Given the description of an element on the screen output the (x, y) to click on. 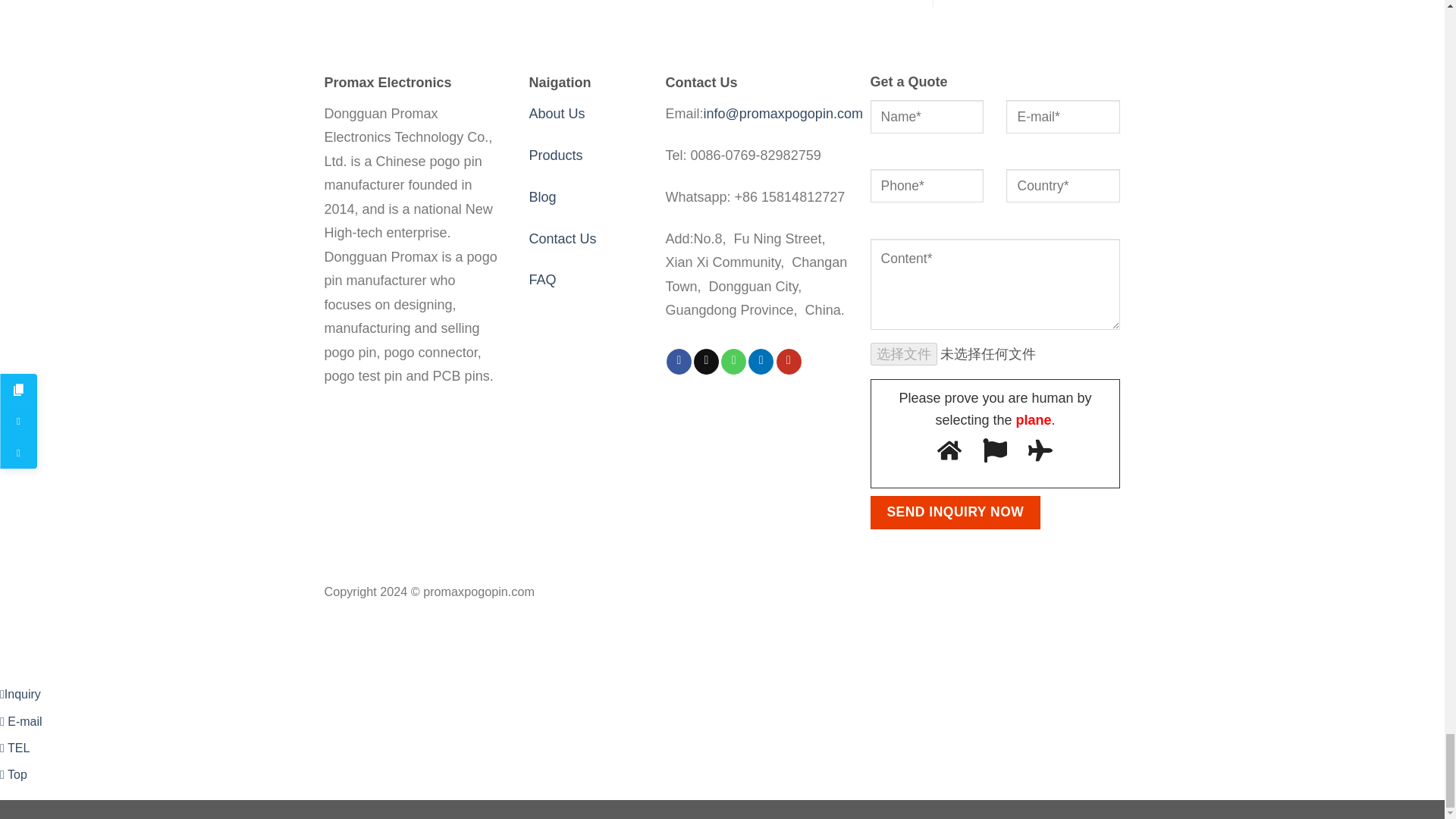
Send Inquiry Now (955, 512)
